Given the description of an element on the screen output the (x, y) to click on. 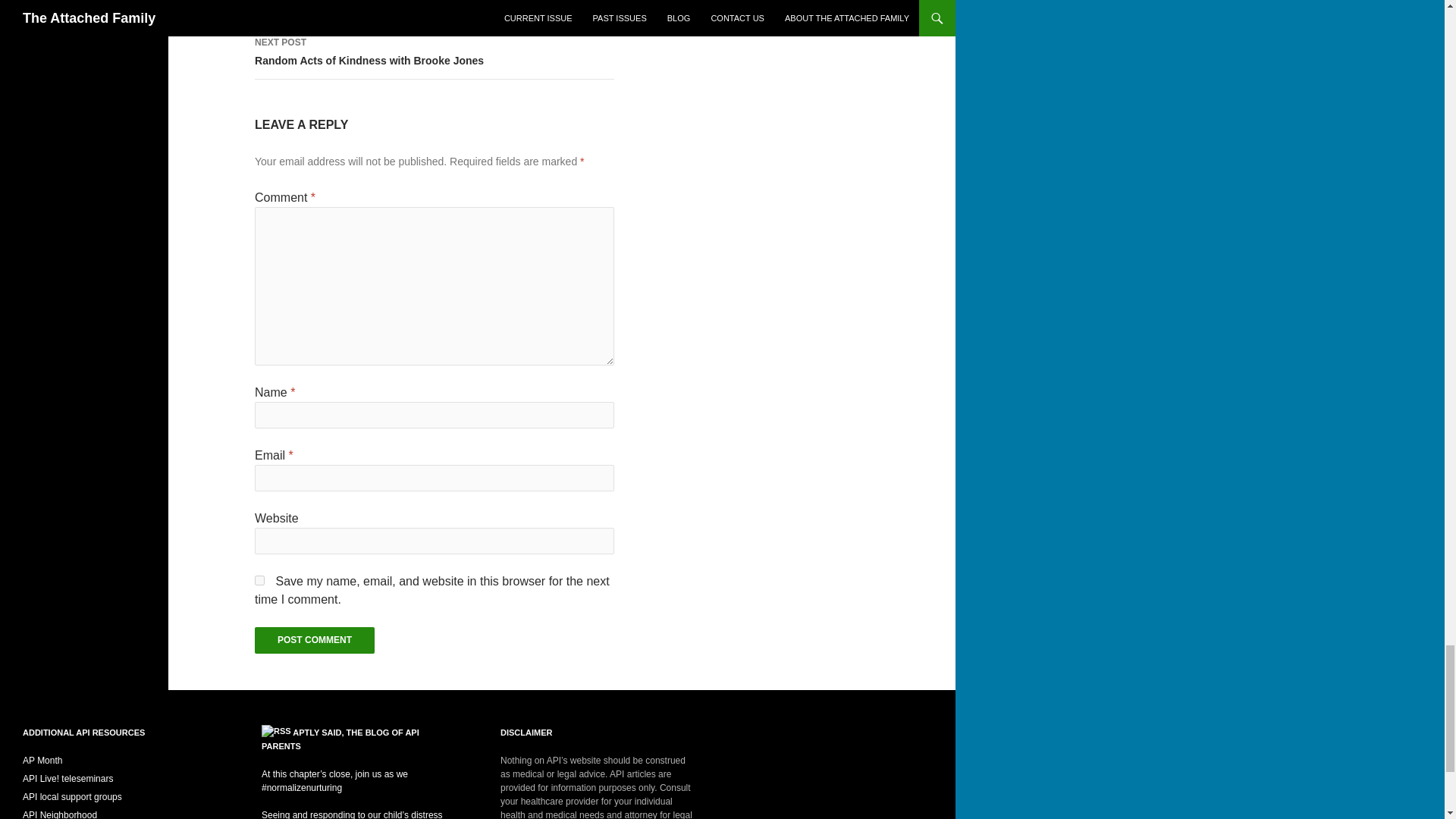
Post Comment (314, 640)
Post Comment (314, 640)
yes (259, 580)
Locate a local parent support group (72, 796)
Attachment Parenting Month (42, 760)
